Given the description of an element on the screen output the (x, y) to click on. 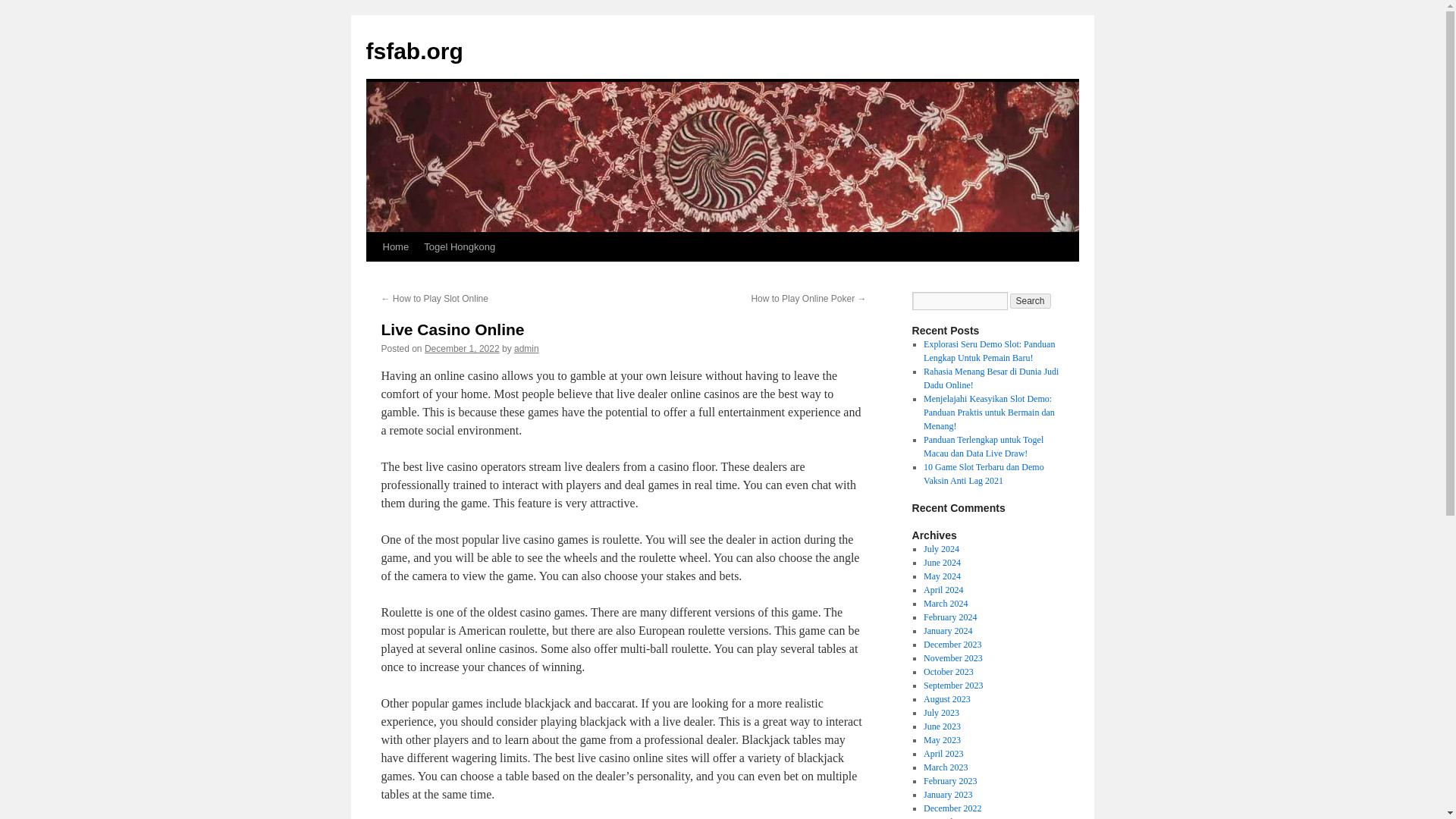
July 2024 (941, 548)
December 2023 (952, 644)
February 2024 (949, 616)
April 2024 (942, 589)
April 2023 (942, 753)
Home (395, 246)
Search (1030, 300)
November 2023 (952, 657)
September 2023 (952, 685)
October 2023 (948, 671)
March 2024 (945, 603)
November 2022 (952, 817)
Rahasia Menang Besar di Dunia Judi Dadu Online! (990, 378)
Skip to content (372, 274)
February 2023 (949, 780)
